Given the description of an element on the screen output the (x, y) to click on. 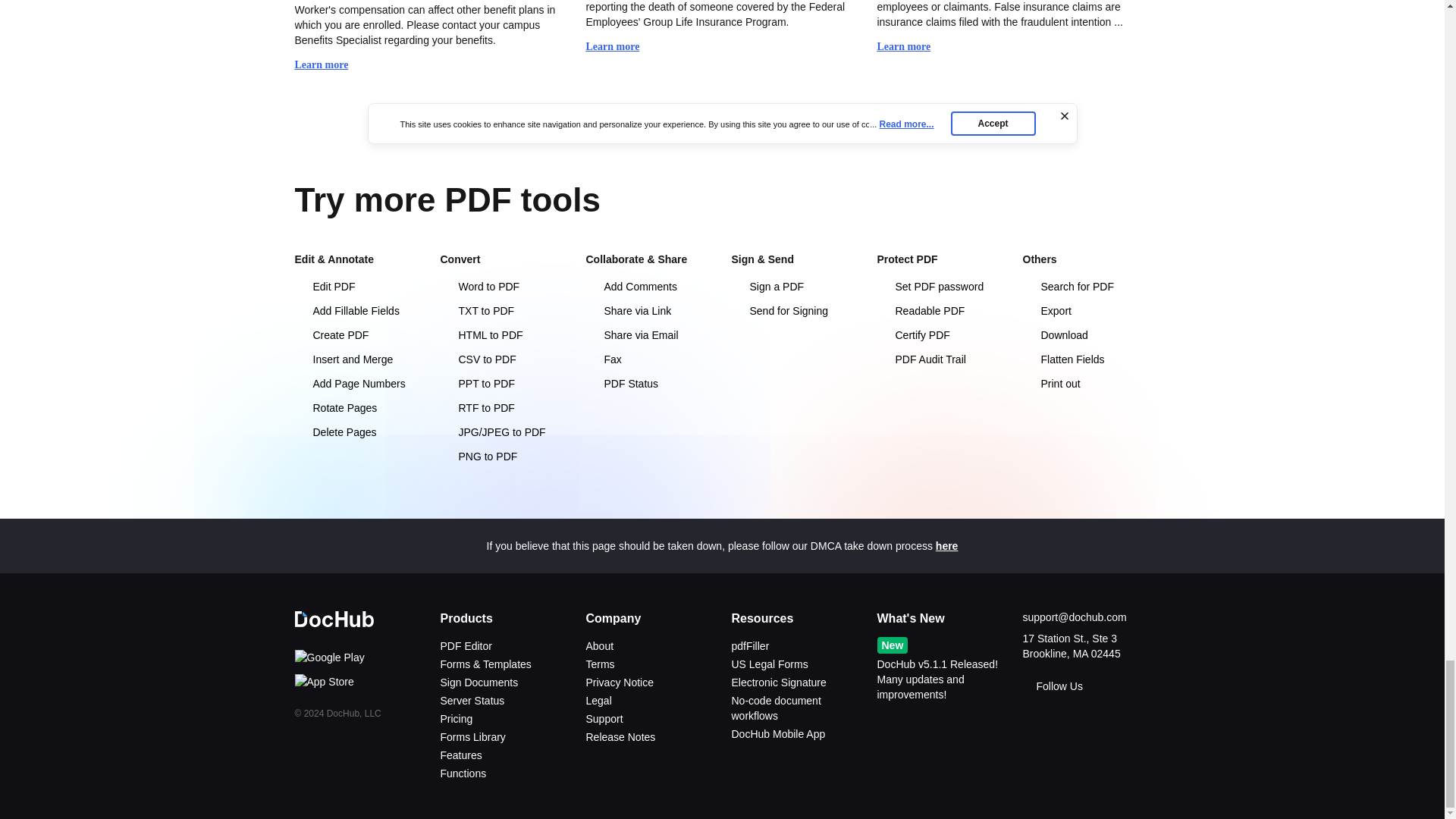
Edit PDF (358, 286)
Add Fillable Fields (358, 310)
Rotate Pages (358, 407)
Delete Pages (358, 432)
Learn more (618, 46)
Learn more (909, 46)
Learn more (327, 64)
Insert and Merge (358, 359)
Add Page Numbers (358, 383)
Create PDF (358, 335)
